Given the description of an element on the screen output the (x, y) to click on. 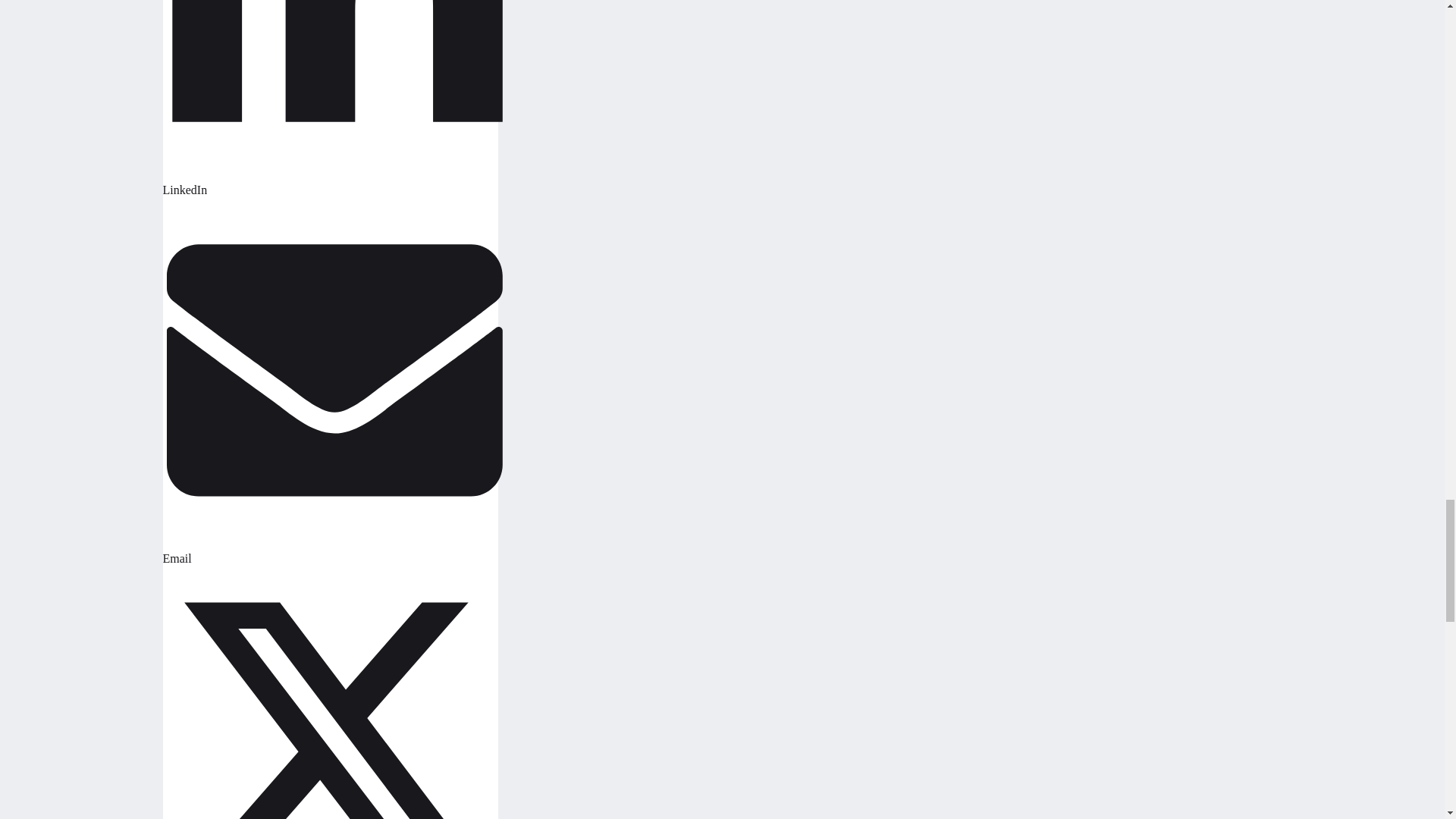
LinkedIn (331, 177)
Email (331, 546)
